Given the description of an element on the screen output the (x, y) to click on. 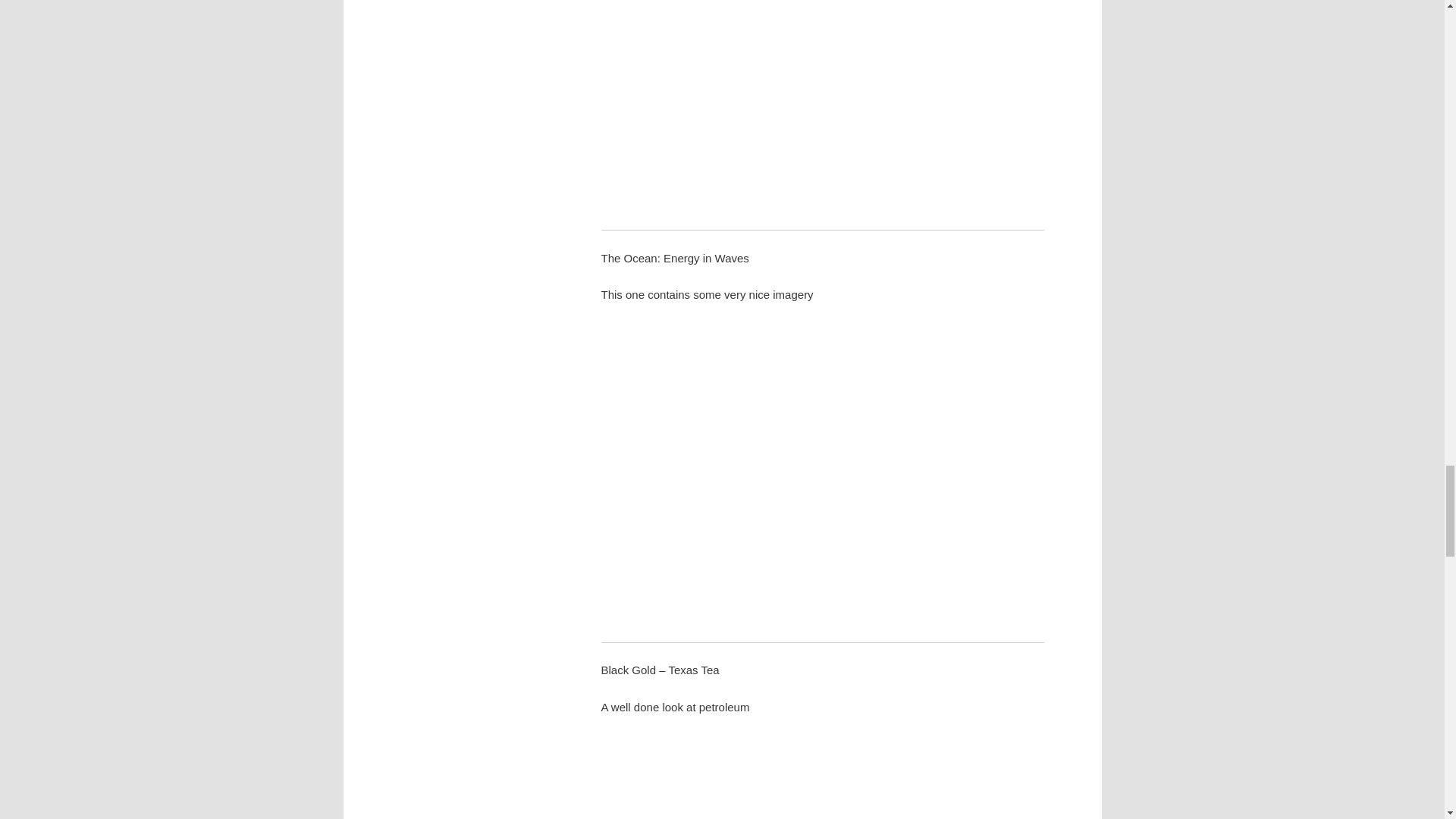
Cracking the Case on Fracking (821, 103)
The Ocean: Energy in Waves (821, 470)
Black Gold - Texas Tea (821, 777)
